Given the description of an element on the screen output the (x, y) to click on. 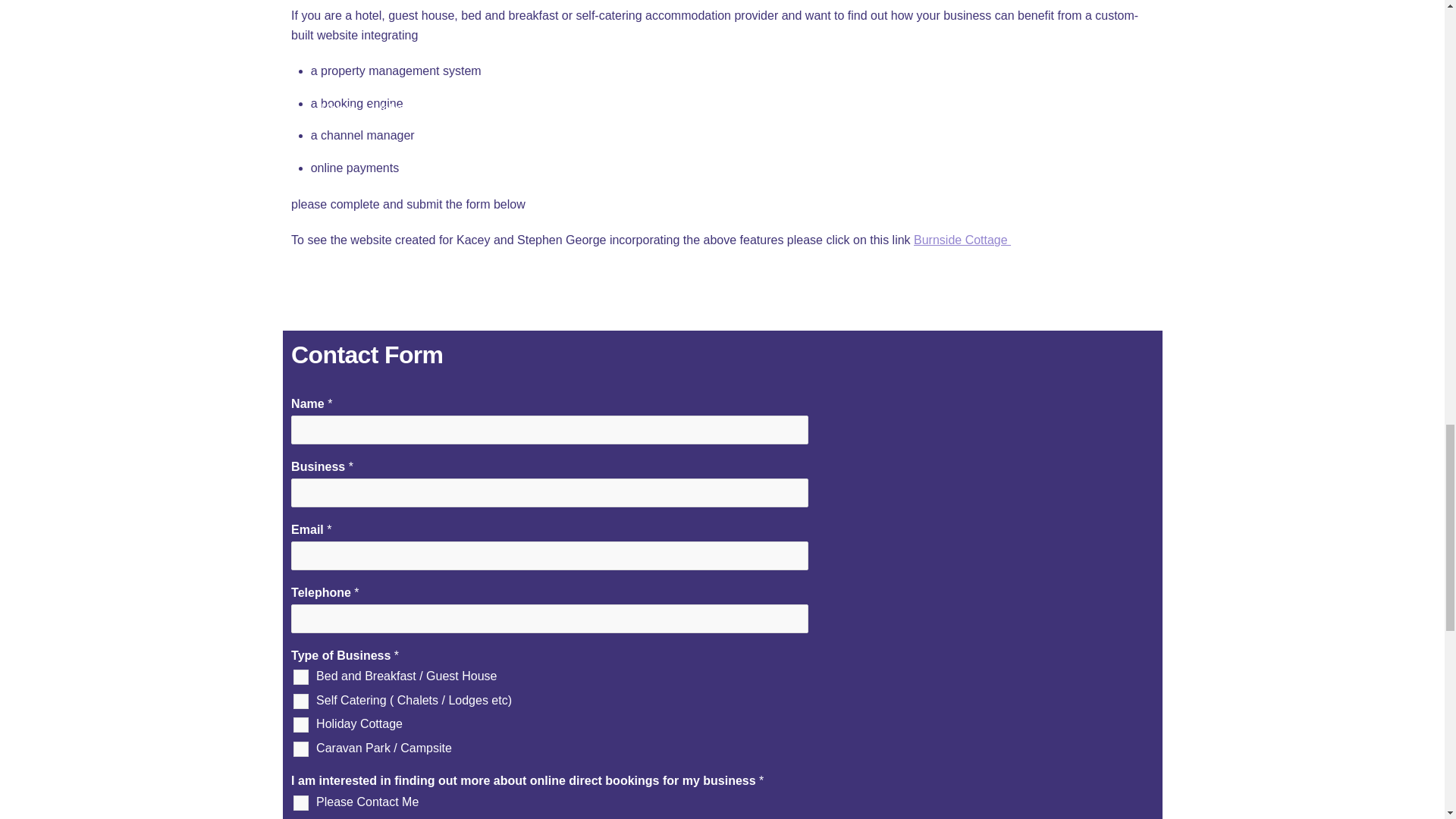
Burnside Cottage (962, 239)
Holiday Cottage (301, 724)
Please Contact Me (301, 802)
